Given the description of an element on the screen output the (x, y) to click on. 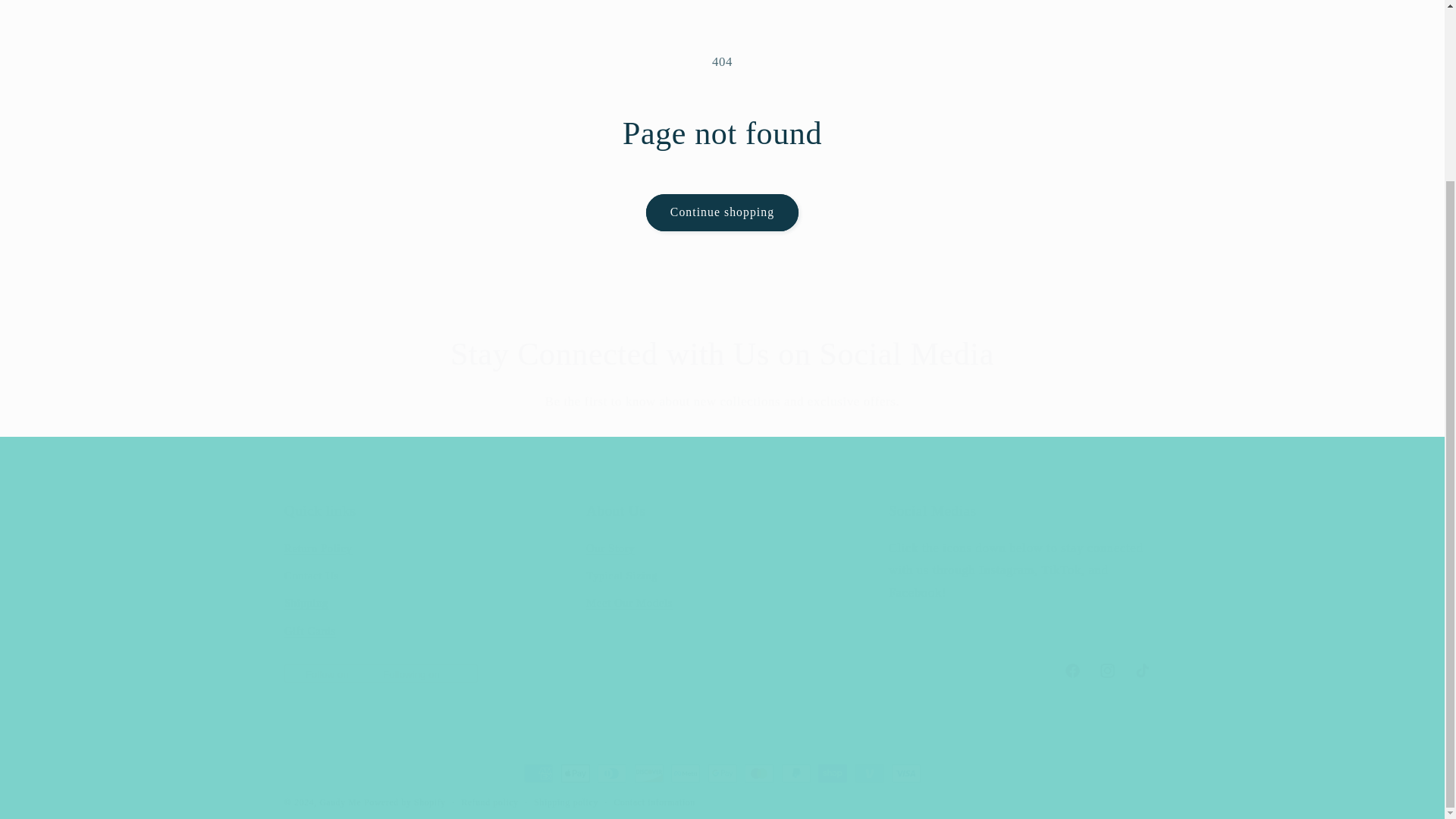
Stay Connected with Us on Social Media (721, 669)
